Given the description of an element on the screen output the (x, y) to click on. 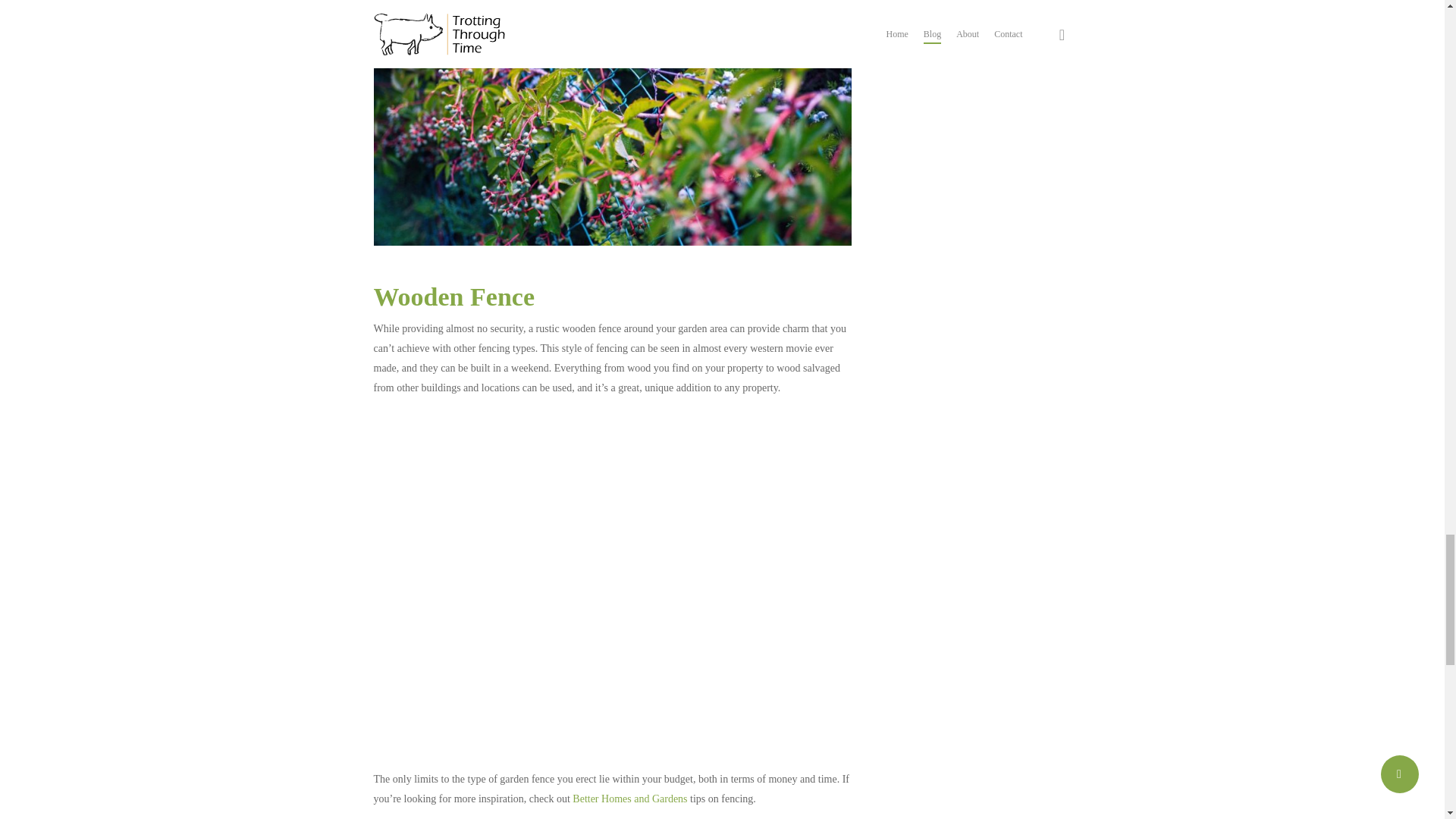
Better Homes and Gardens (629, 798)
